Given the description of an element on the screen output the (x, y) to click on. 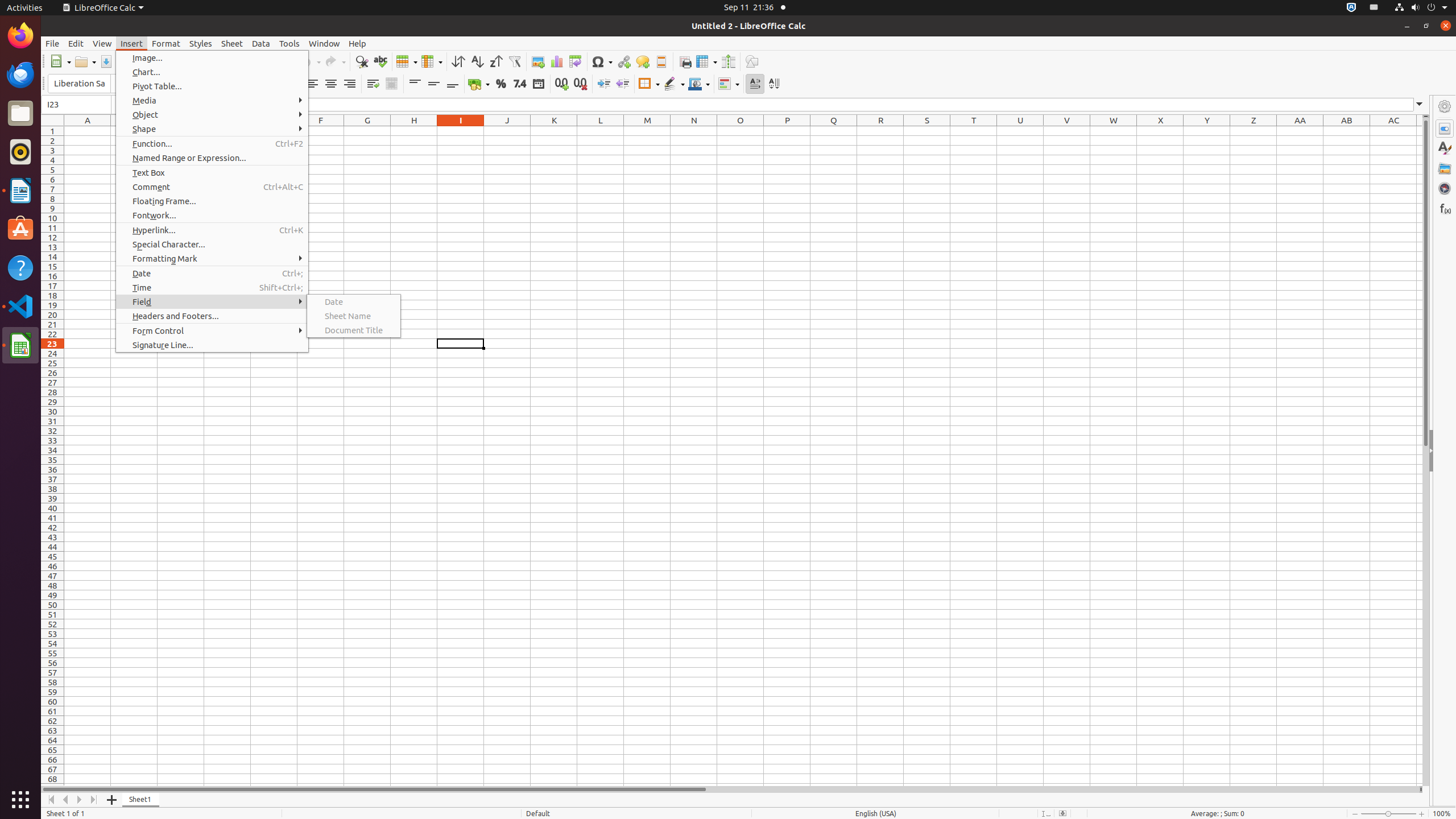
LibreOffice Calc Element type: menu (102, 7)
Draw Functions Element type: toggle-button (751, 61)
